Given the description of an element on the screen output the (x, y) to click on. 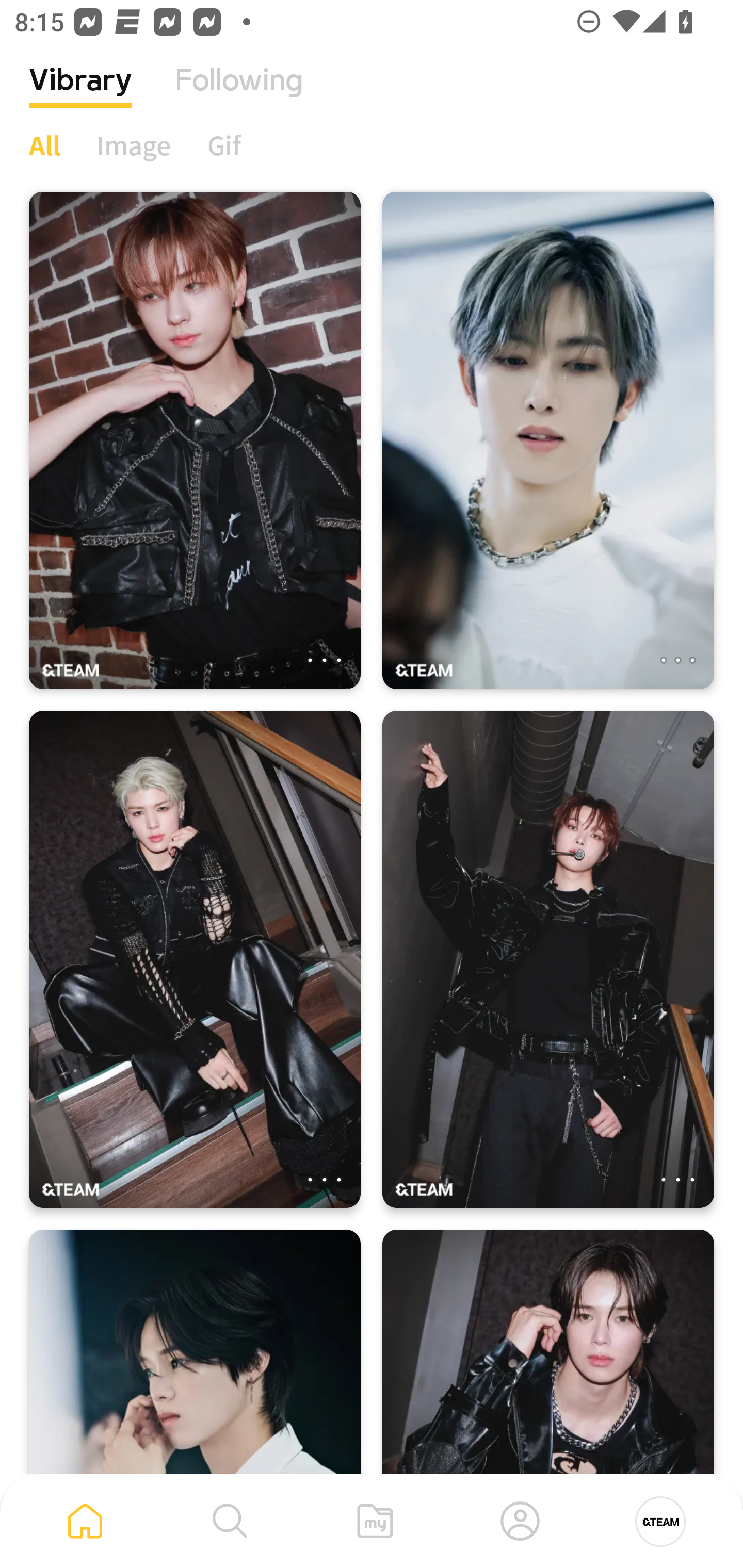
Vibrary (80, 95)
Following (239, 95)
All (44, 145)
Image (133, 145)
Gif (223, 145)
